Given the description of an element on the screen output the (x, y) to click on. 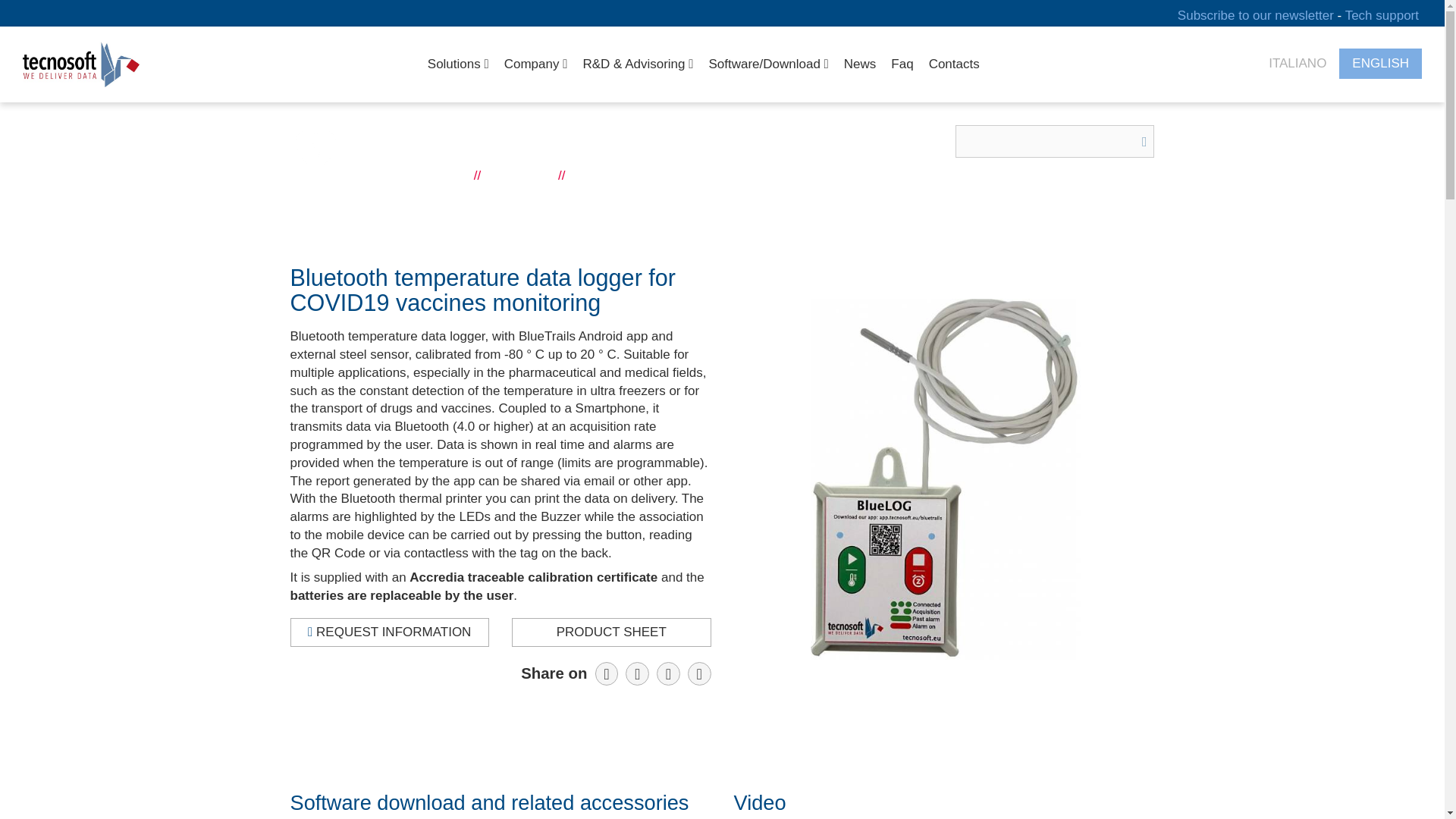
Linkedin (637, 673)
Twitter (667, 673)
English (1380, 64)
Subscribe to our newsletter (1257, 14)
Email (699, 673)
Tech support (1381, 14)
Italiano (1297, 64)
Tech support (1381, 14)
Solutions (458, 63)
Facebook (606, 673)
